Given the description of an element on the screen output the (x, y) to click on. 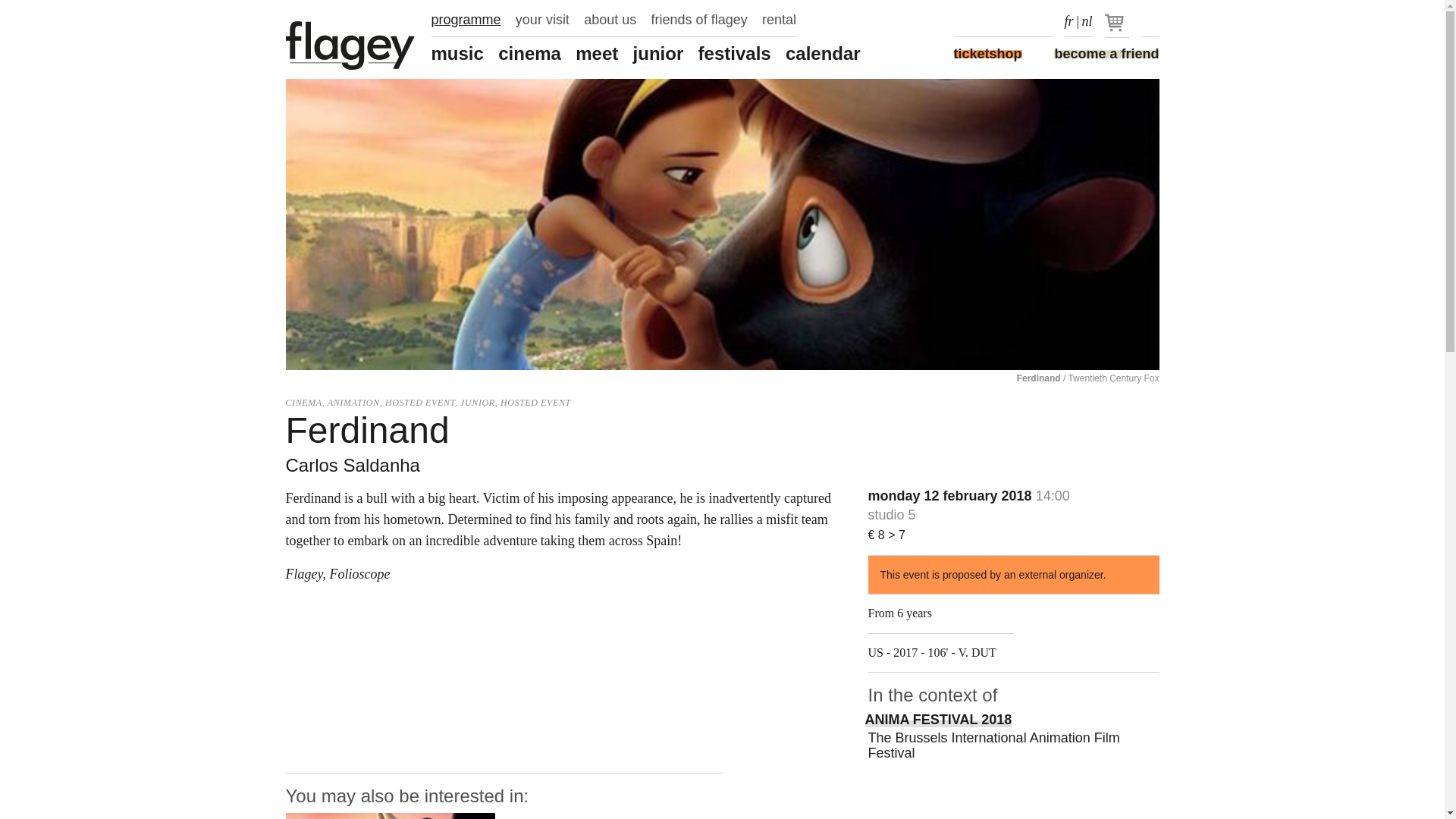
Ferdinand (390, 816)
cinema (528, 53)
music (456, 53)
junior (658, 53)
meet (596, 53)
rental (778, 19)
Homepage (349, 45)
friends of flagey (699, 19)
about us (609, 19)
programme (465, 19)
